Given the description of an element on the screen output the (x, y) to click on. 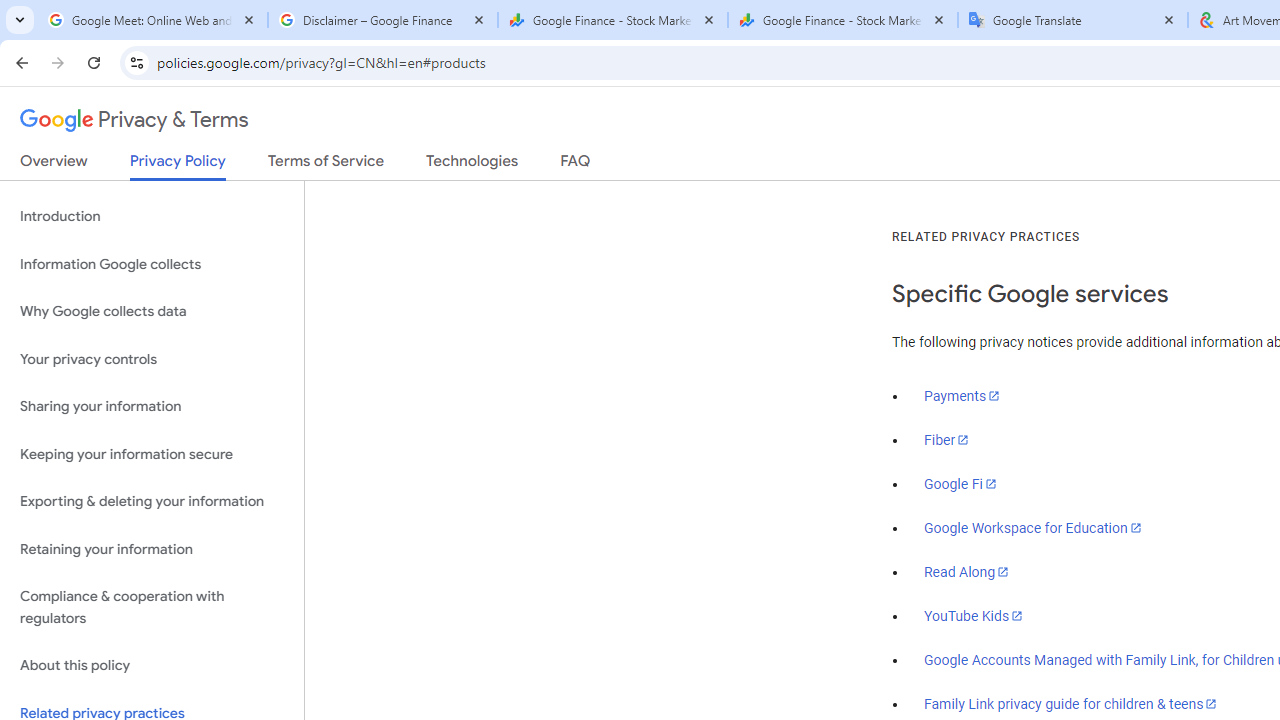
About this policy (152, 666)
Introduction (152, 216)
Google Translate (1072, 20)
